Given the description of an element on the screen output the (x, y) to click on. 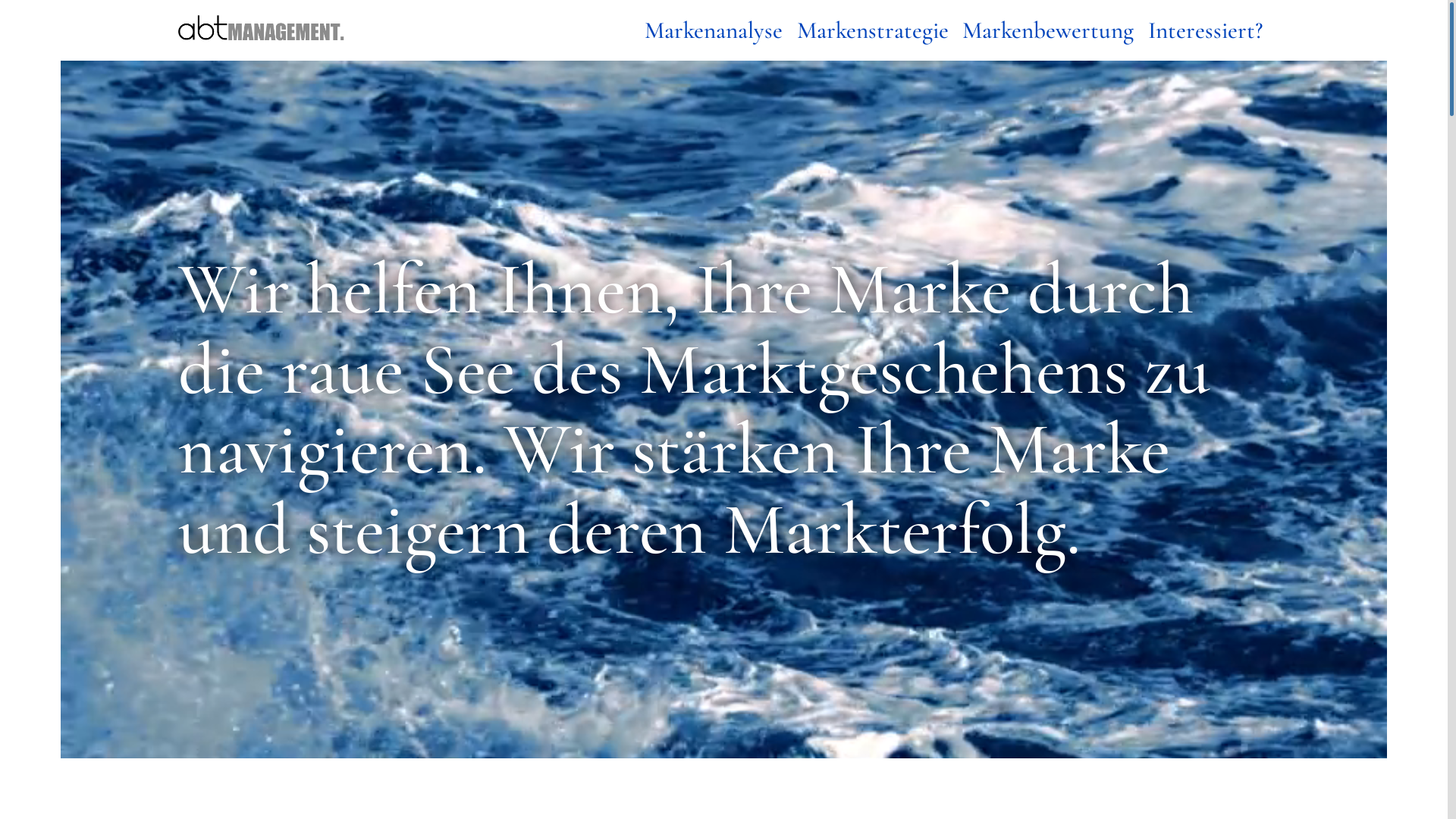
Interessiert? Element type: text (1205, 30)
Markenbewertung Element type: text (1048, 30)
Markenstrategie Element type: text (872, 30)
Markenanalyse Element type: text (713, 30)
